Given the description of an element on the screen output the (x, y) to click on. 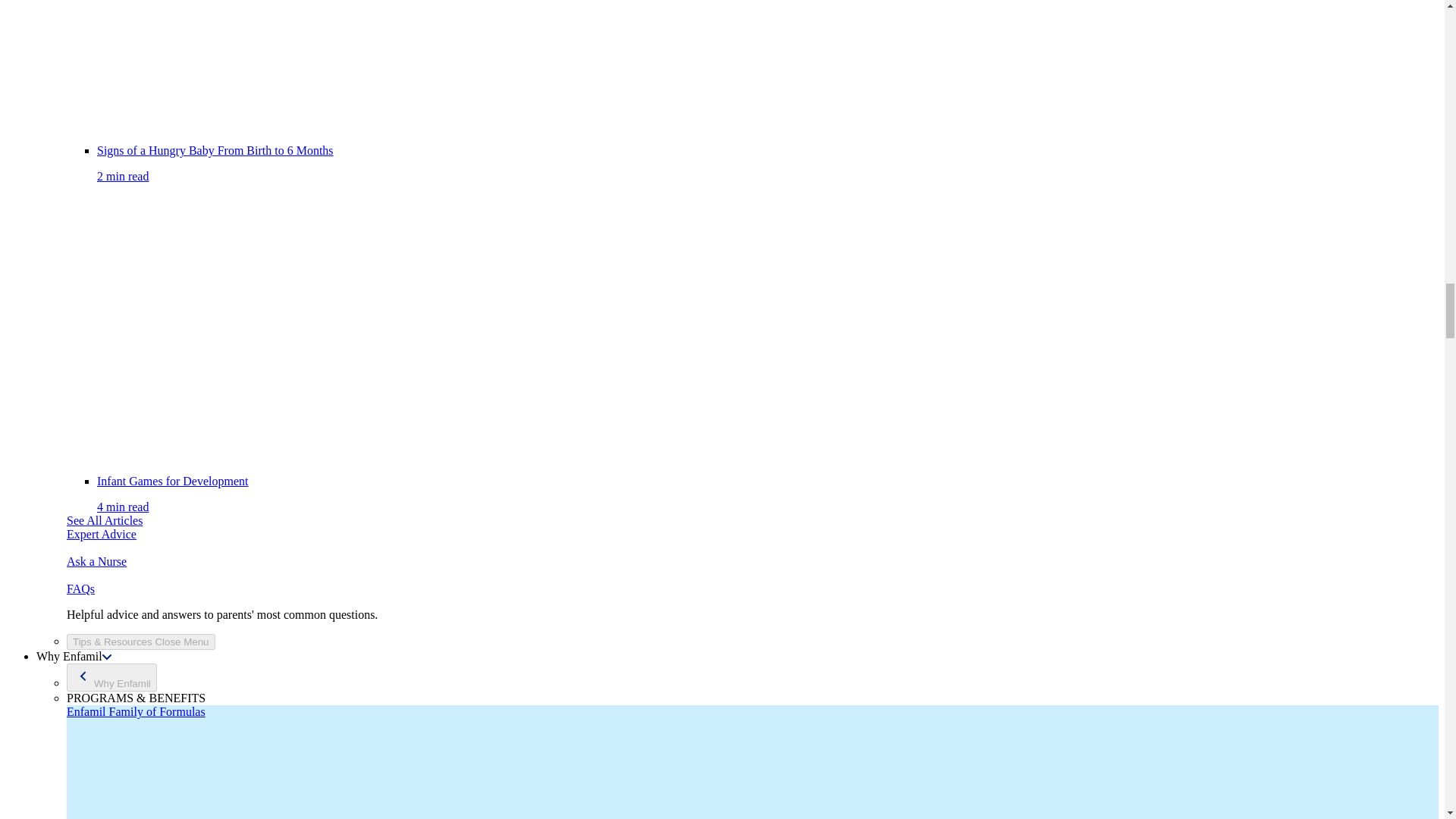
FAQs (80, 588)
FAQs (96, 561)
Created with Lunacy (83, 676)
FAQs (101, 533)
